Given the description of an element on the screen output the (x, y) to click on. 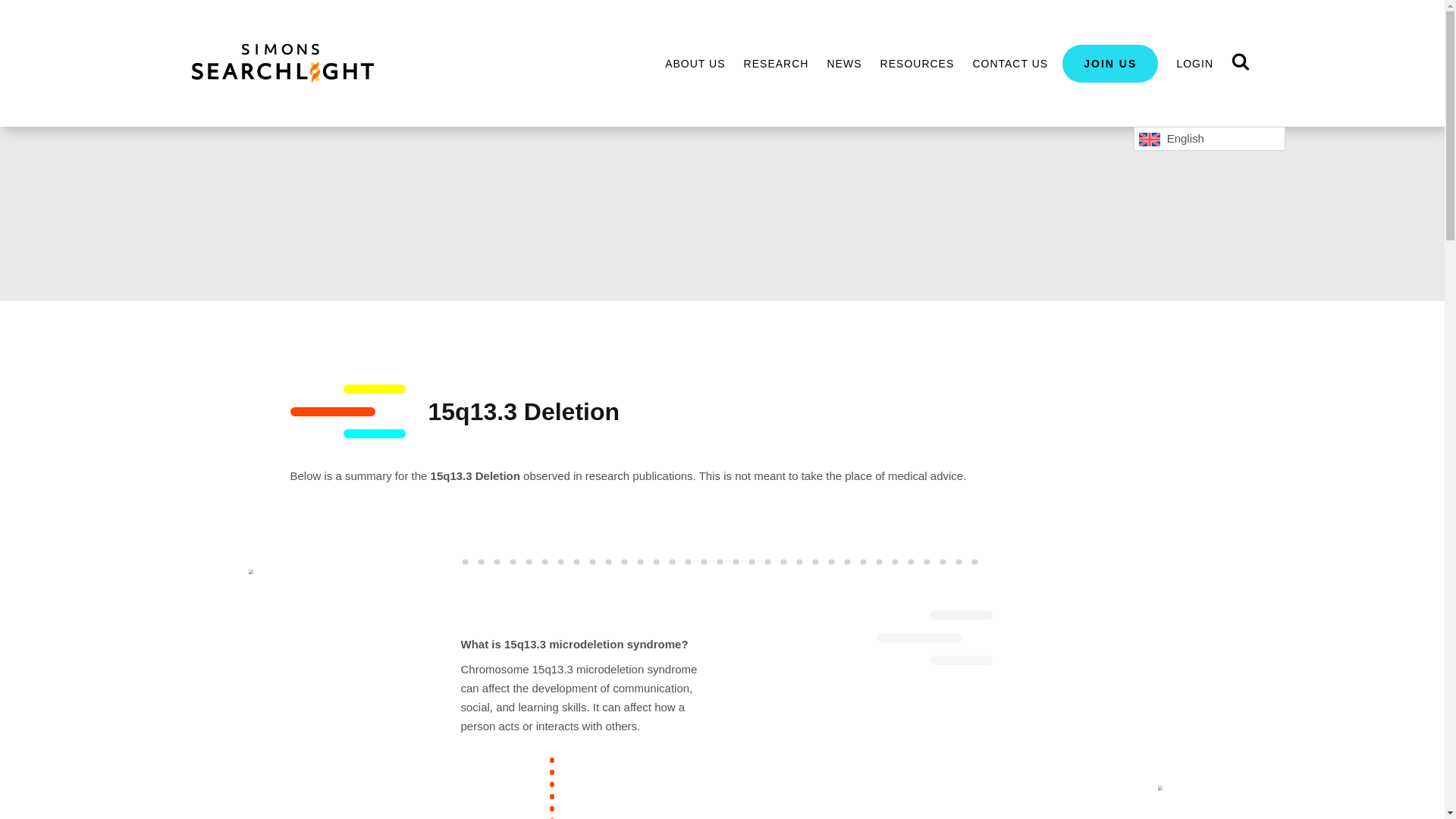
JOIN US (1109, 62)
NEWS (844, 62)
RESOURCES (917, 62)
LOGIN (1194, 62)
RESEARCH (776, 62)
ABOUT US (695, 62)
Simons Searchlight (281, 63)
CONTACT US (1010, 62)
